Given the description of an element on the screen output the (x, y) to click on. 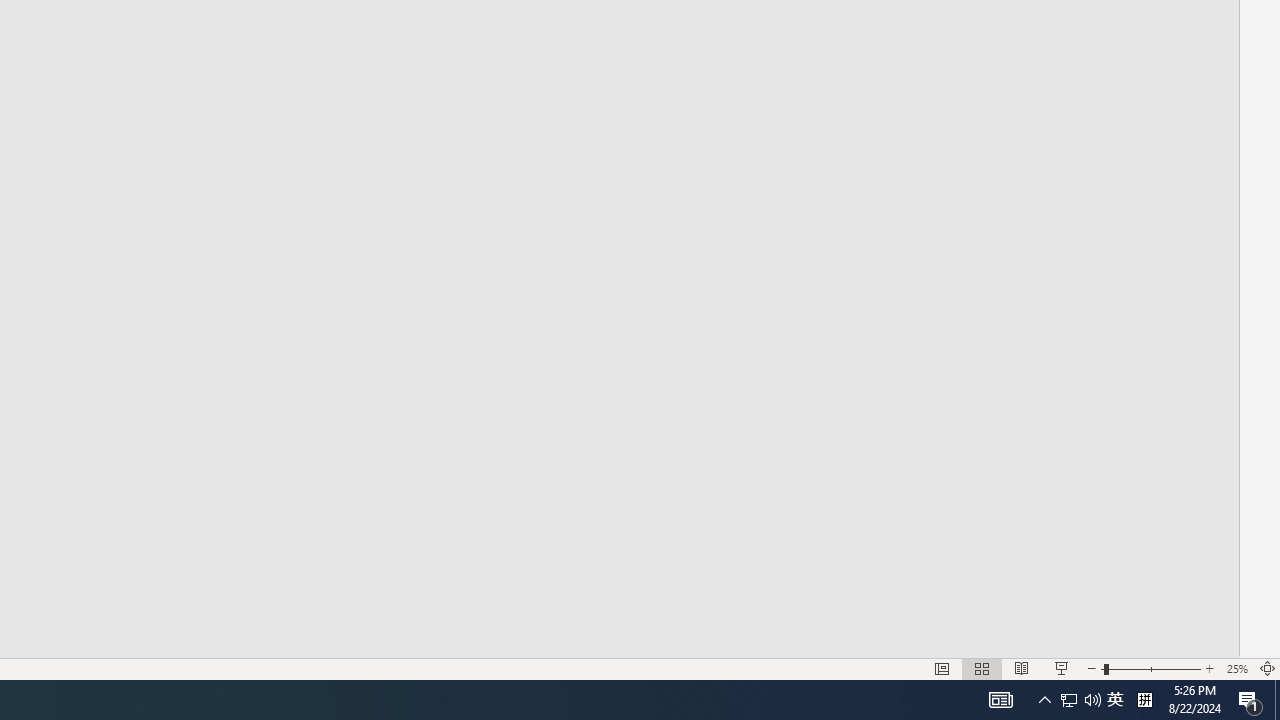
Zoom 25% (1236, 668)
